Given the description of an element on the screen output the (x, y) to click on. 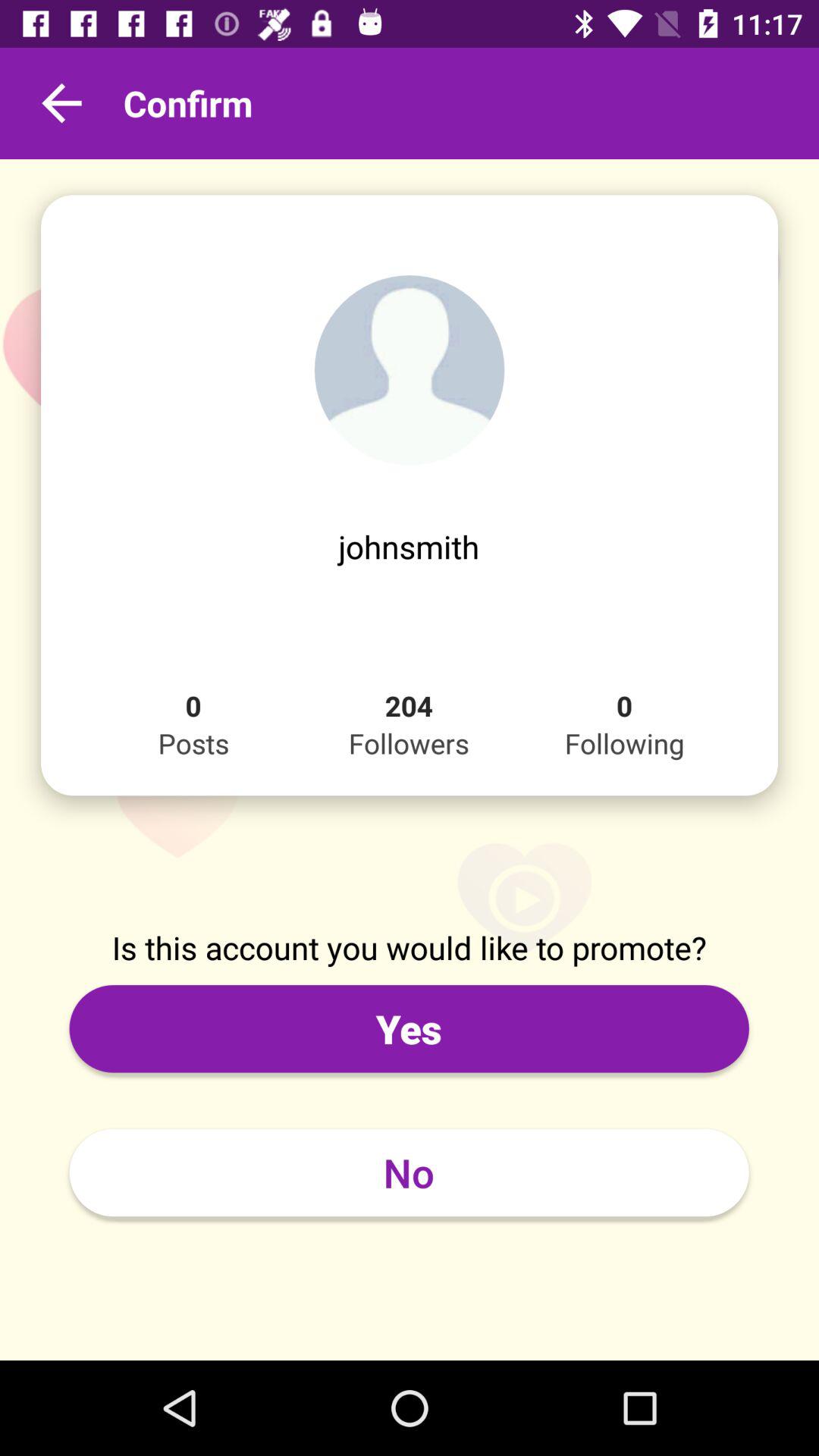
select the yes icon (409, 1028)
